Given the description of an element on the screen output the (x, y) to click on. 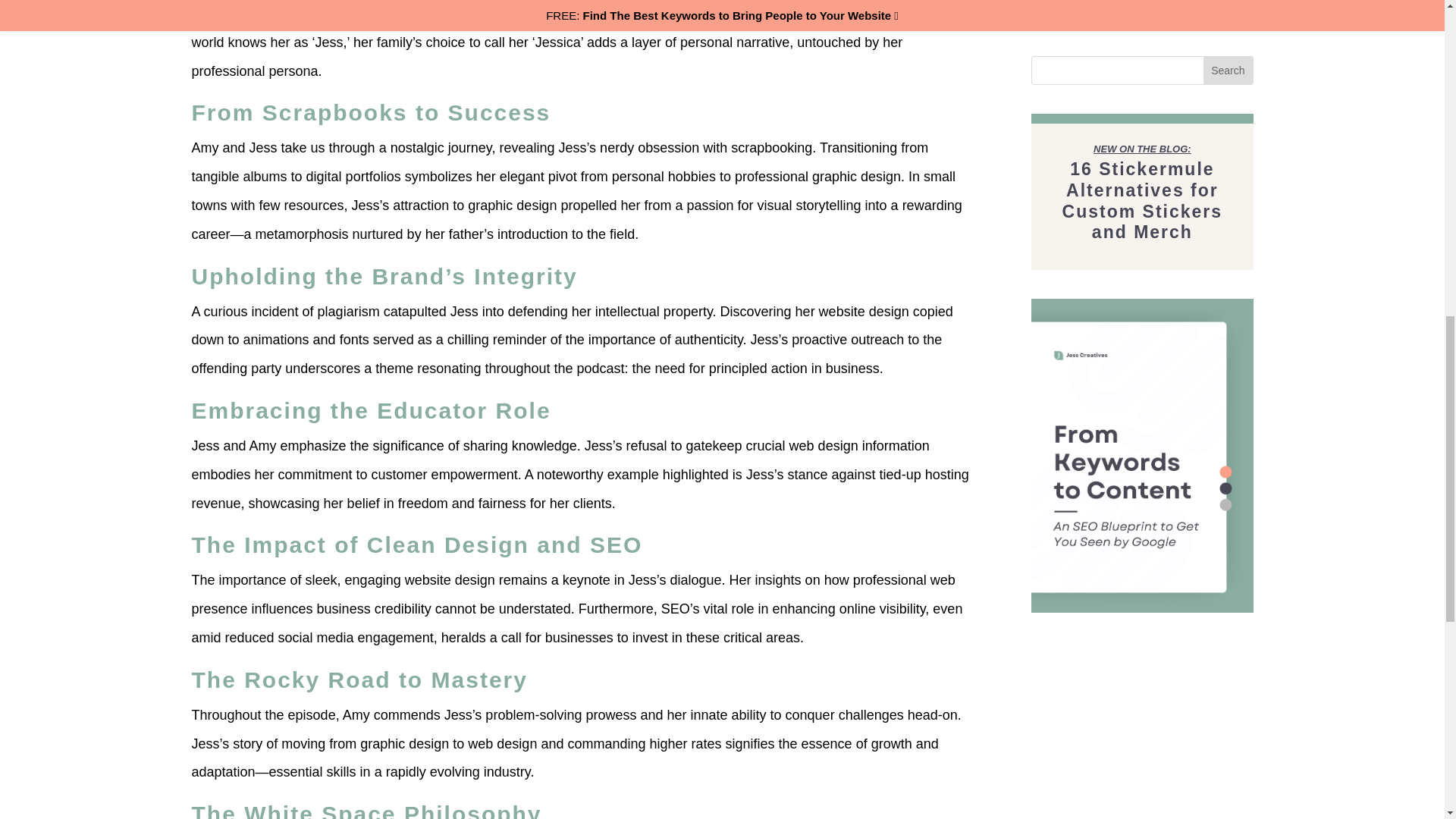
Search (1228, 70)
Search (1228, 70)
